Given the description of an element on the screen output the (x, y) to click on. 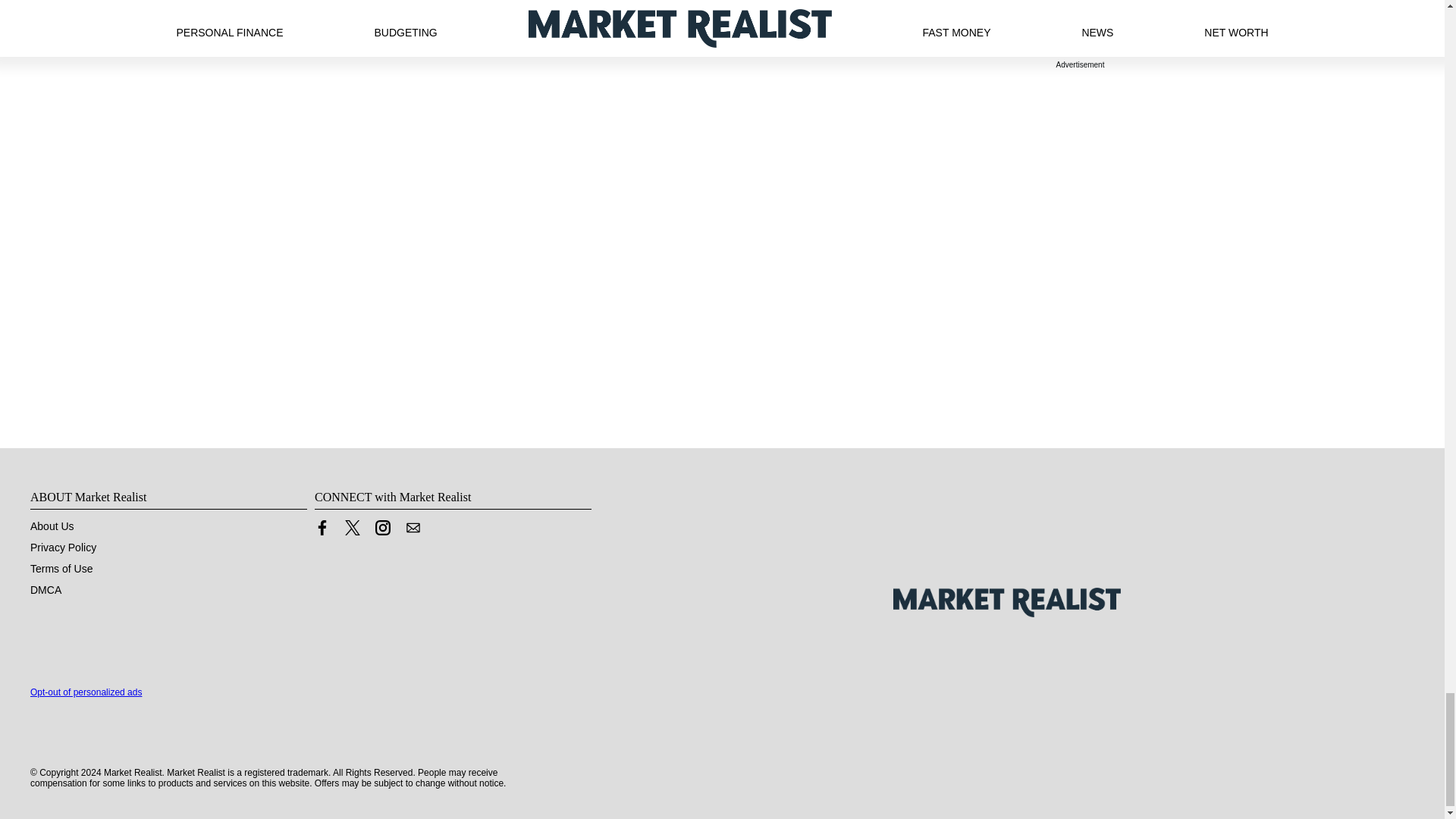
Privacy Policy (63, 547)
Link to Facebook (322, 531)
DMCA (45, 589)
About Us (52, 526)
Privacy Policy (63, 547)
Link to Facebook (322, 527)
Contact us by Email (413, 527)
Link to Instagram (382, 527)
DMCA (45, 589)
Terms of Use (61, 568)
